Given the description of an element on the screen output the (x, y) to click on. 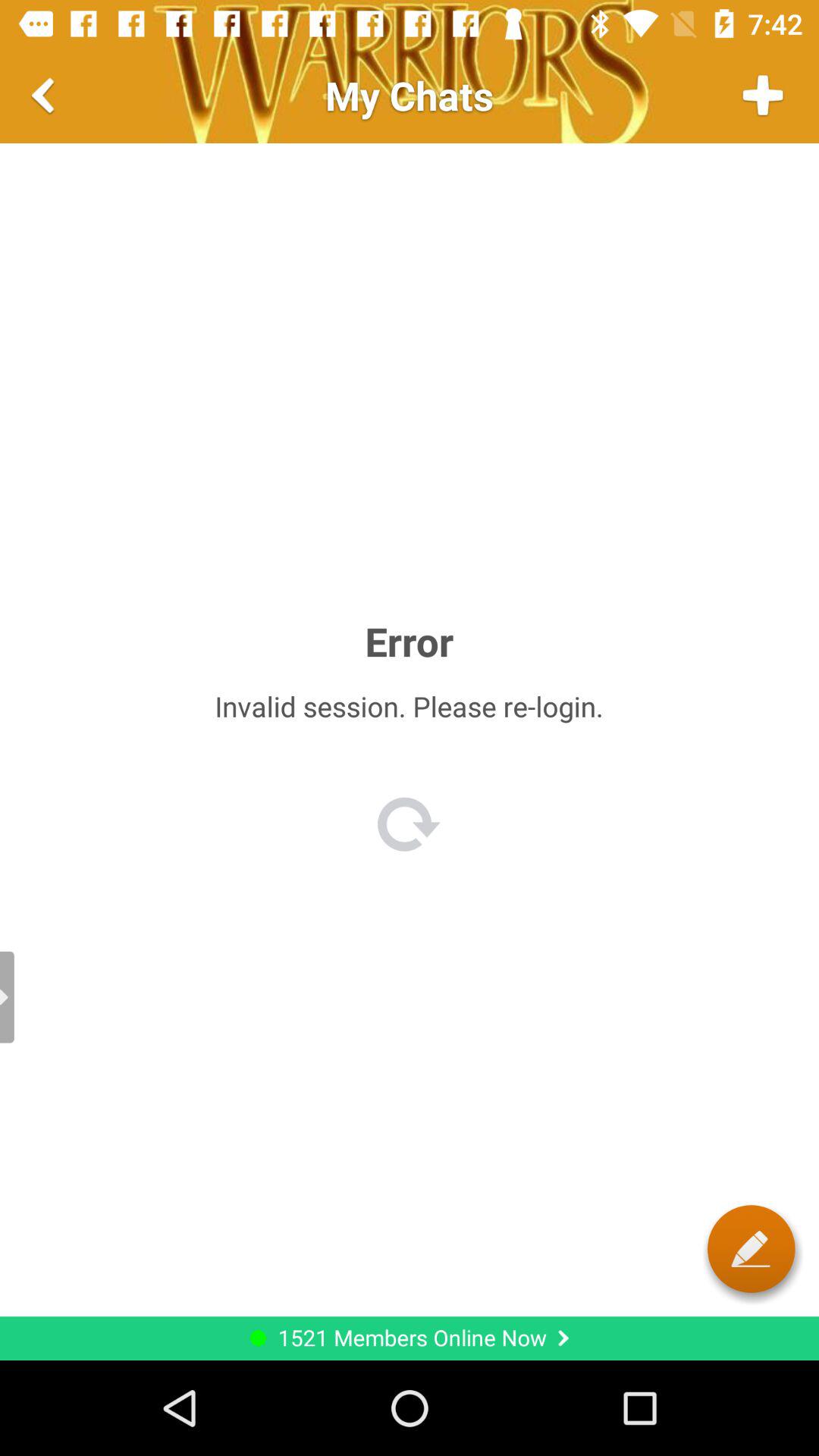
write new (751, 1248)
